Given the description of an element on the screen output the (x, y) to click on. 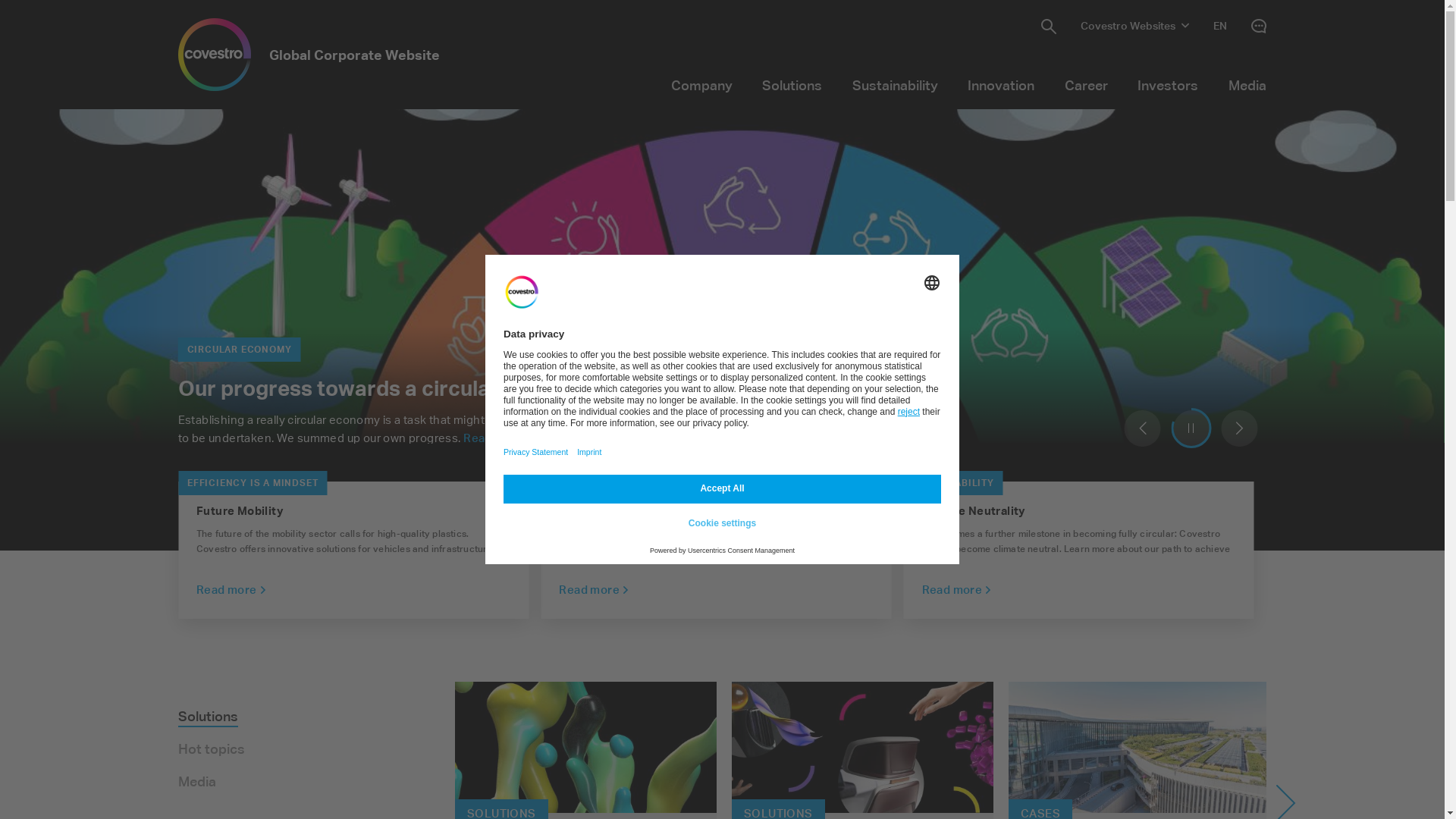
Solutions Element type: text (792, 84)
Career Element type: text (1086, 84)
Media Element type: text (1247, 84)
Media Element type: text (197, 782)
Hot topics Element type: text (211, 749)
Solutions Element type: text (208, 717)
Sustainability Element type: text (894, 84)
Read more Element type: text (956, 589)
Read more Element type: text (231, 589)
Global Corporate Website Element type: text (308, 54)
Covestro Websites Element type: text (1134, 25)
Investors Element type: text (1168, 84)
EN Element type: text (1220, 25)
Read more Element type: text (498, 437)
Company Element type: text (701, 84)
Read more Element type: text (593, 589)
Innovation Element type: text (1001, 84)
